Given the description of an element on the screen output the (x, y) to click on. 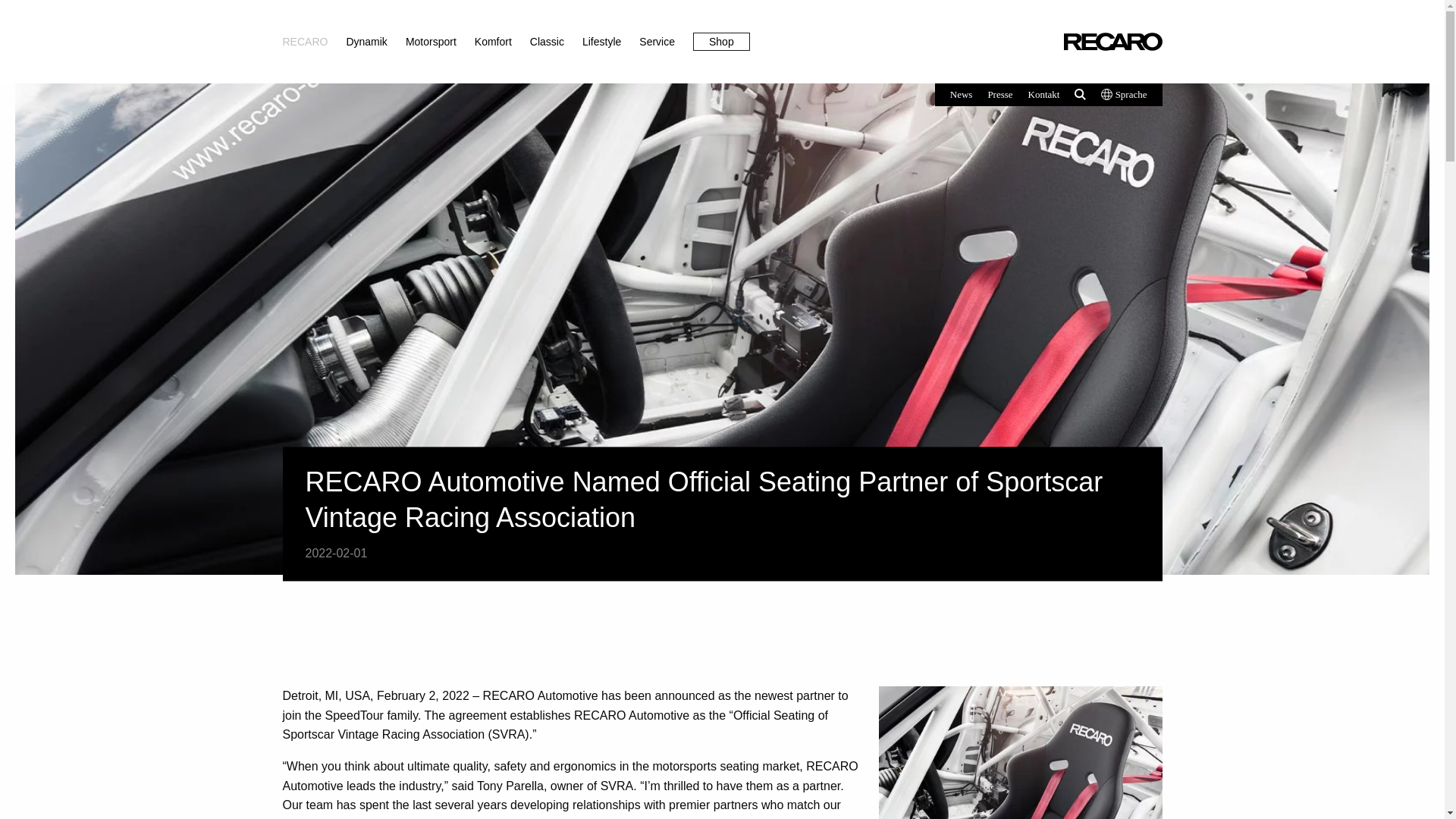
Dynamik (366, 41)
Motorsport (431, 41)
RECARO (304, 41)
